Given the description of an element on the screen output the (x, y) to click on. 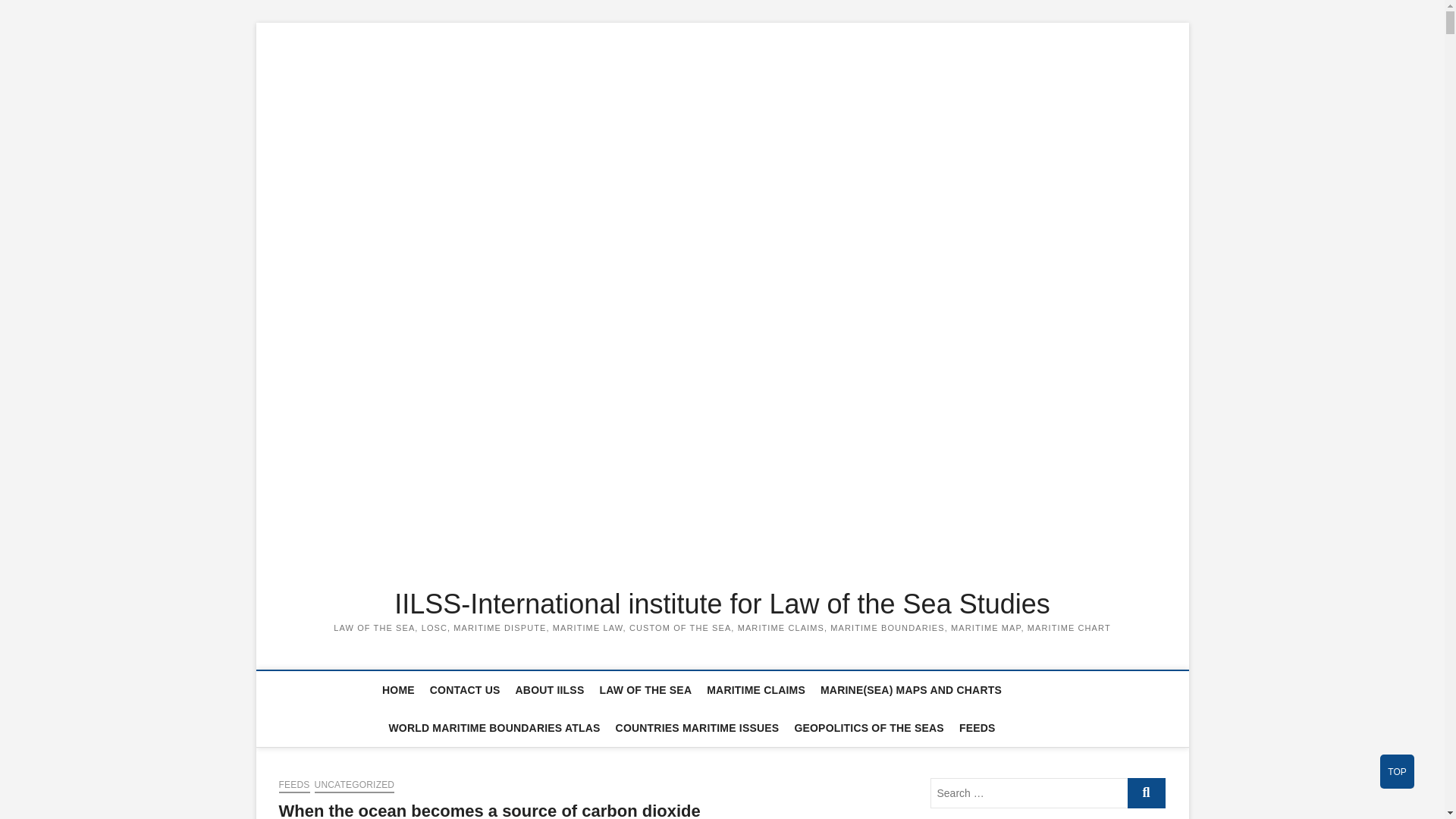
COUNTRIES MARITIME ISSUES (697, 727)
IILSS-International institute for Law of the Sea Studies (722, 604)
LAW OF THE SEA (644, 689)
CONTACT US (465, 689)
WORLD MARITIME BOUNDARIES ATLAS (493, 727)
FEEDS (977, 727)
MARITIME CLAIMS (755, 689)
HOME (398, 689)
FEEDS (294, 786)
GEOPOLITICS OF THE SEAS (869, 727)
UNCATEGORIZED (354, 786)
ABOUT IILSS (550, 689)
IILSS-International institute for Law of the Sea Studies (722, 604)
